Given the description of an element on the screen output the (x, y) to click on. 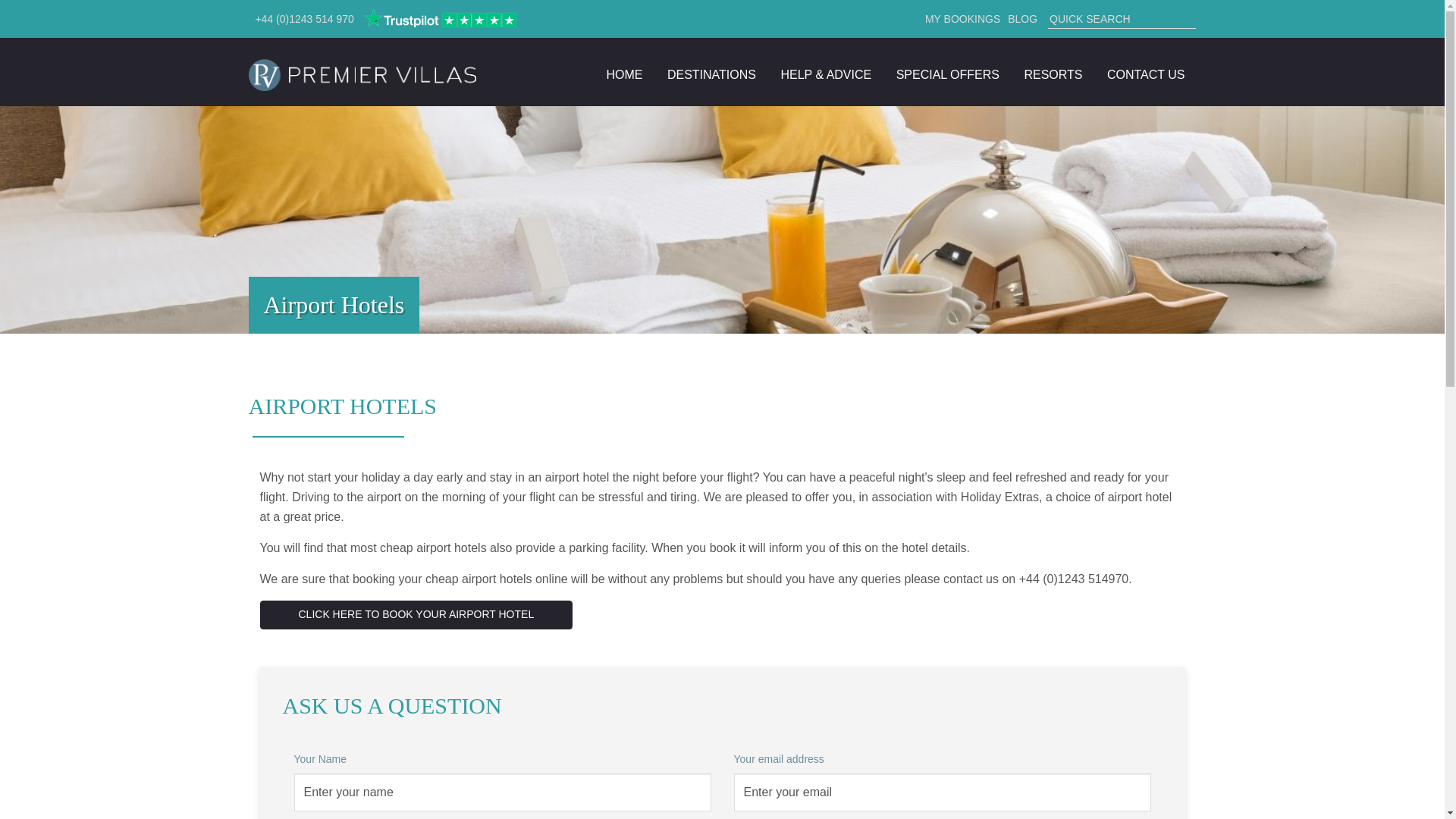
MY BOOKINGS (960, 18)
BLOG (1021, 18)
HOME (623, 74)
DESTINATIONS (711, 74)
Home Page (362, 74)
